Given the description of an element on the screen output the (x, y) to click on. 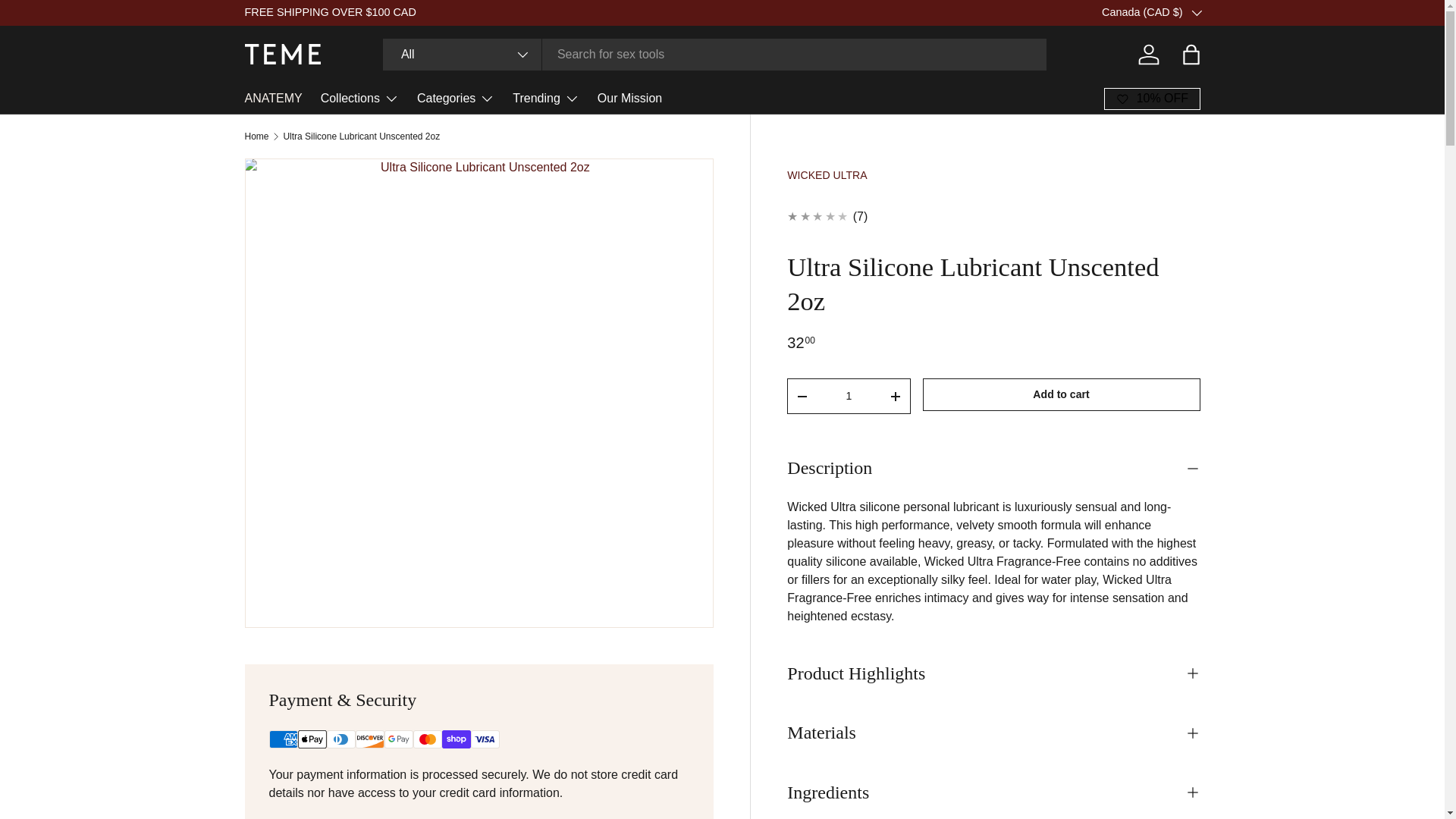
Duties Credit (1223, 11)
American Express (282, 739)
Google Pay (398, 739)
Skip to content (68, 21)
Trending (545, 98)
ANATEMY (272, 98)
Apple Pay (311, 739)
Mastercard (426, 739)
All (461, 54)
Diners Club (340, 739)
